Given the description of an element on the screen output the (x, y) to click on. 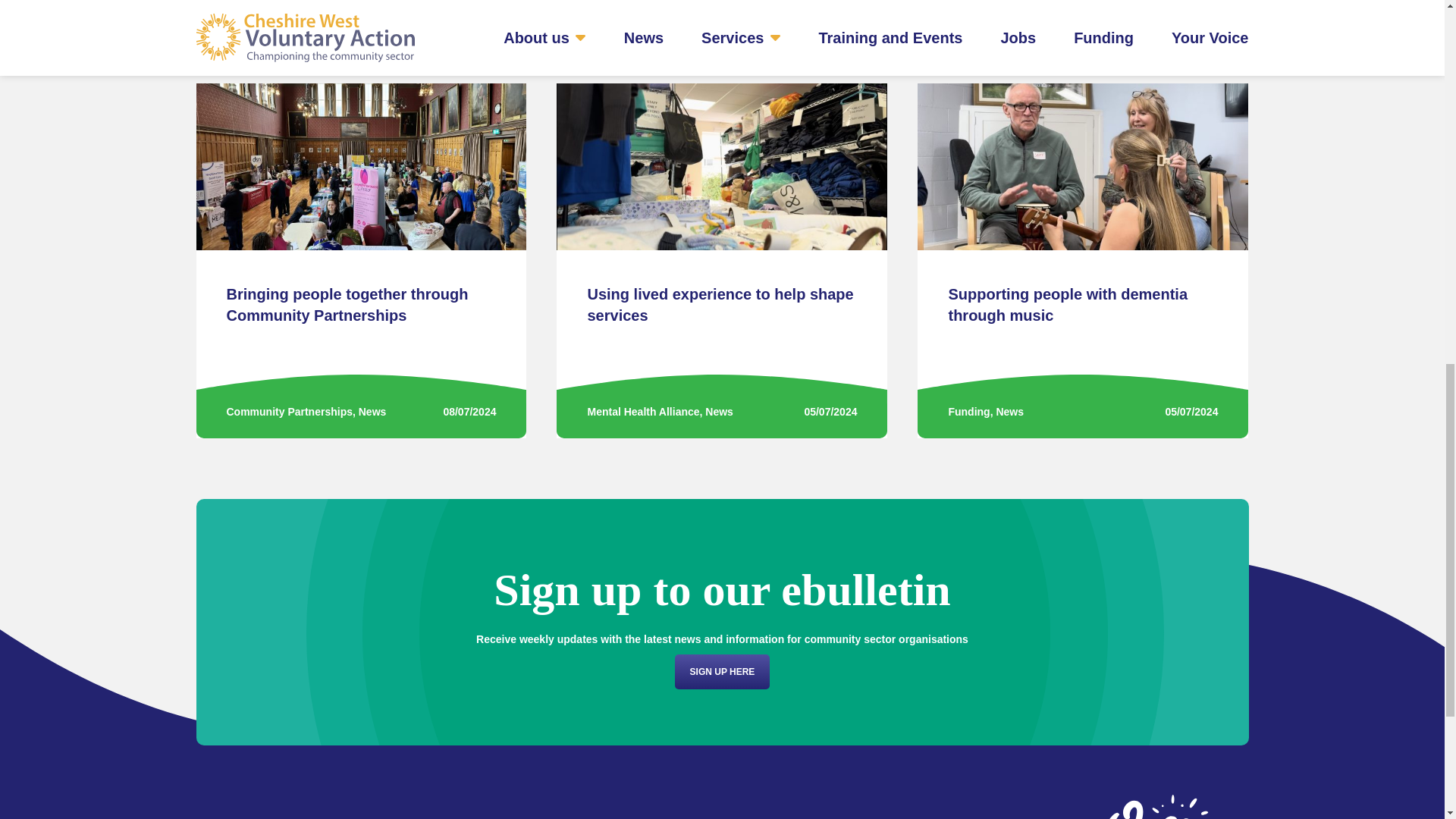
SIGN UP HERE (722, 671)
